Given the description of an element on the screen output the (x, y) to click on. 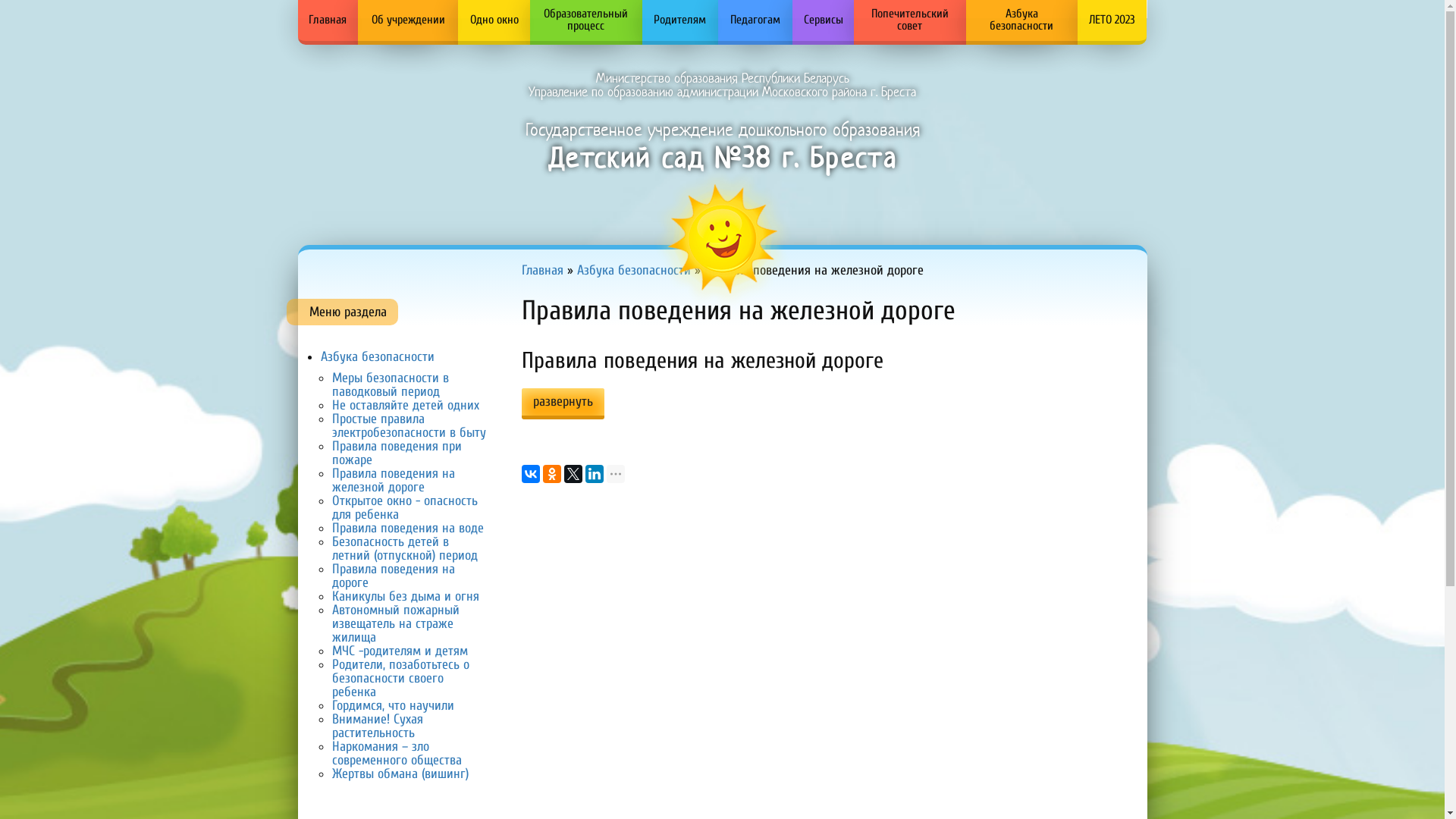
Twitter Element type: hover (573, 473)
LinkedIn Element type: hover (594, 473)
